Given the description of an element on the screen output the (x, y) to click on. 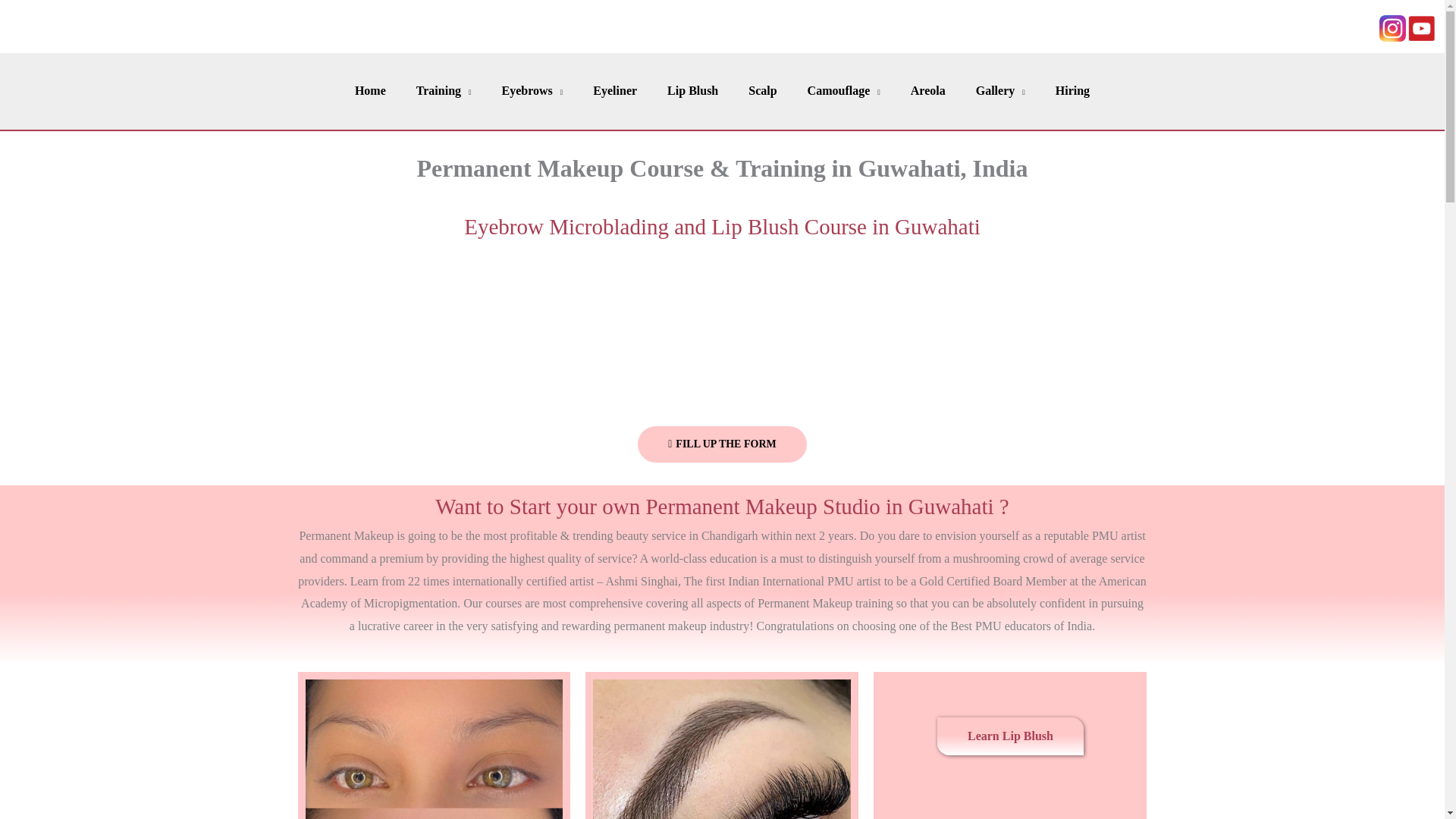
Thebrowmaster on youtube (1420, 27)
Camouflage (843, 90)
Gallery (1000, 90)
Lip Blush (692, 90)
Training (443, 90)
Thebrowmaster on Instagram (1392, 28)
Eyebrows (532, 90)
Eyeliner (615, 90)
